Given the description of an element on the screen output the (x, y) to click on. 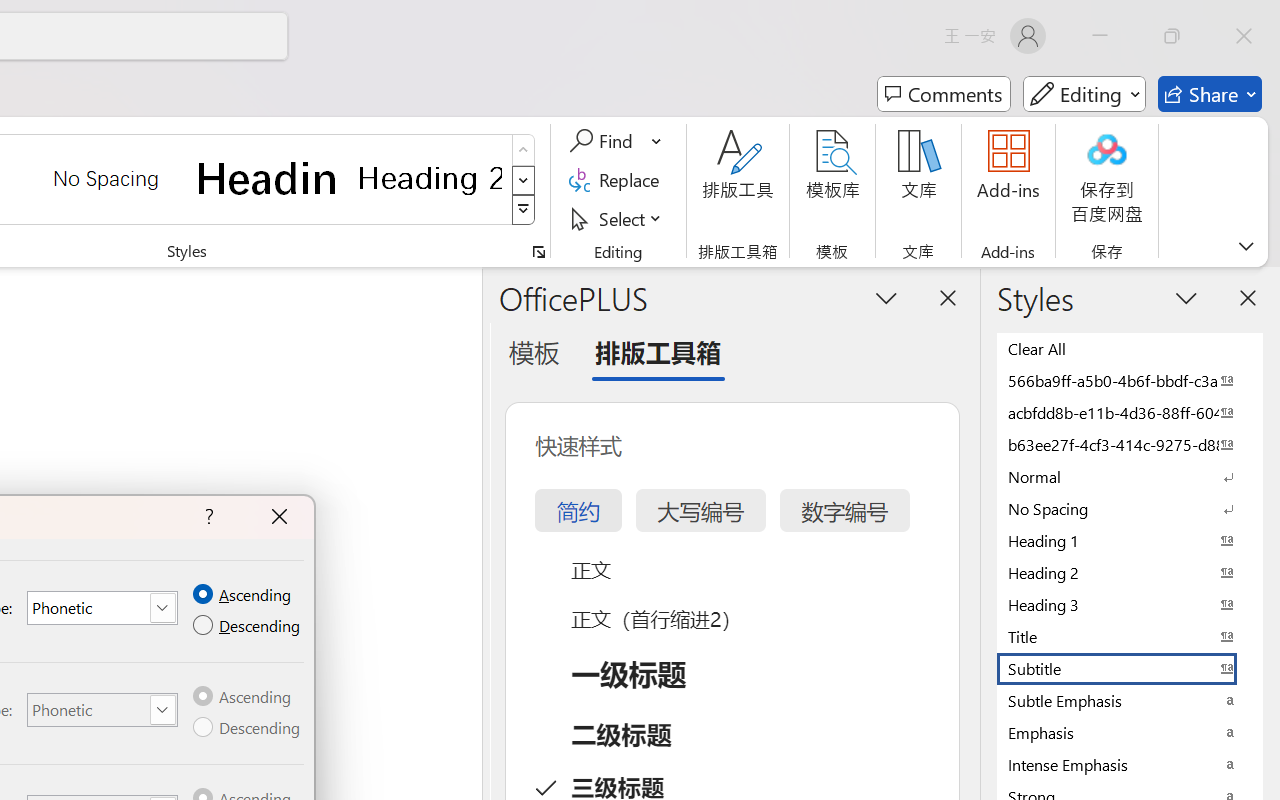
566ba9ff-a5b0-4b6f-bbdf-c3ab41993fc2 (1130, 380)
Mode (1083, 94)
Intense Emphasis (1130, 764)
Restore Down (1172, 36)
Ascending (243, 697)
Type: (101, 709)
Emphasis (1130, 732)
